Given the description of an element on the screen output the (x, y) to click on. 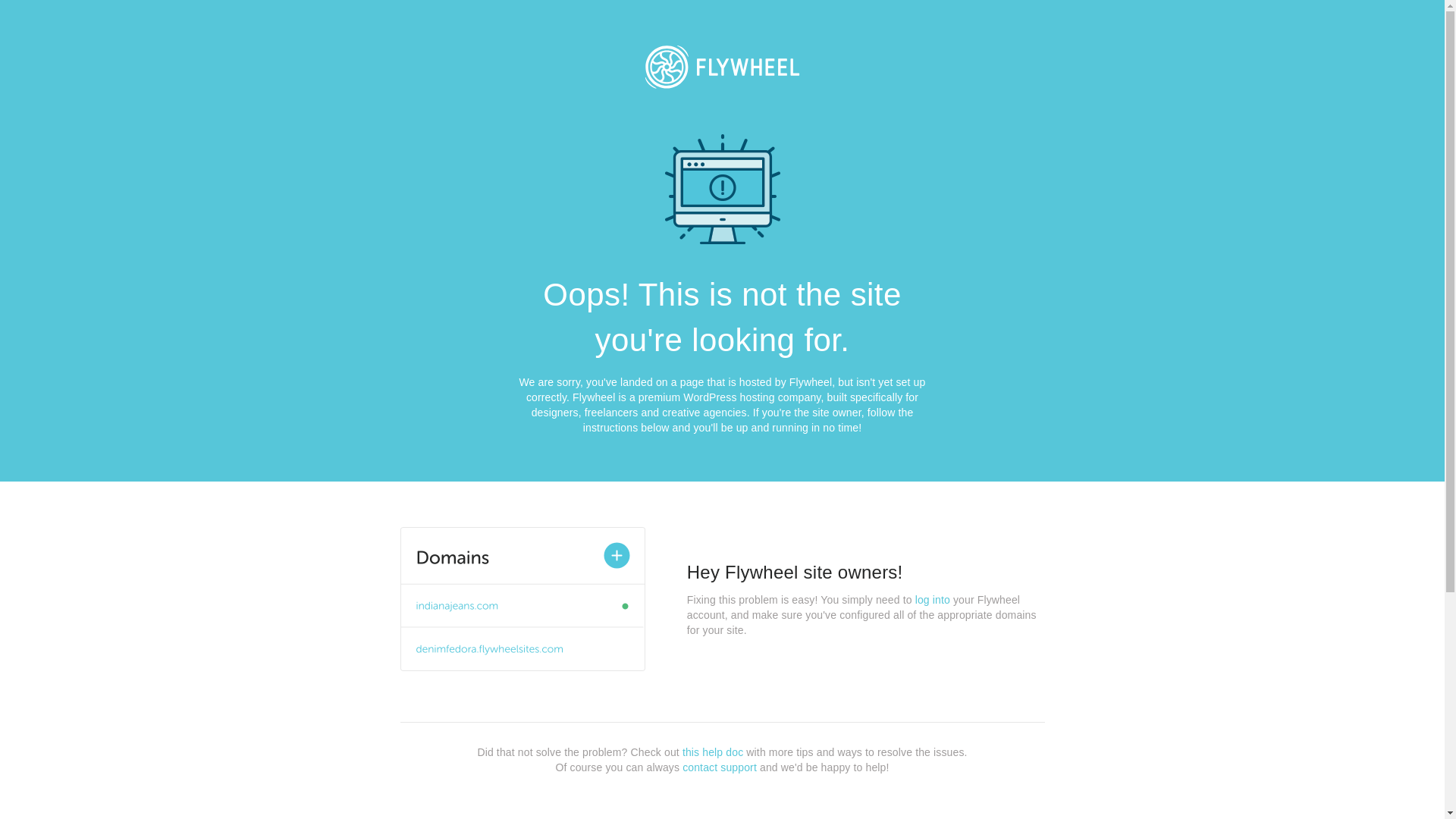
contact support (719, 767)
log into (932, 599)
this help doc (712, 752)
